Given the description of an element on the screen output the (x, y) to click on. 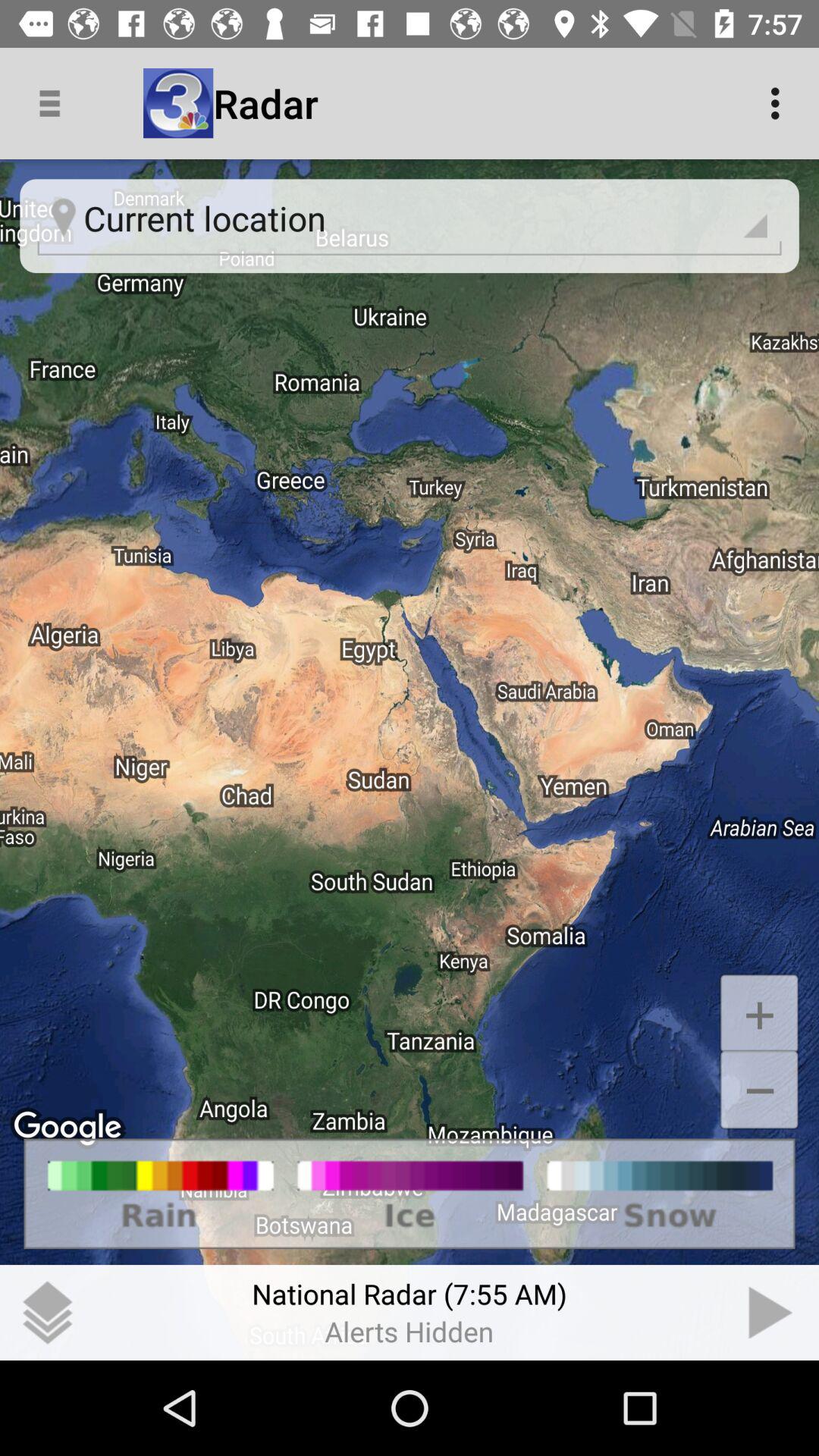
swipe until + icon (759, 1013)
